Given the description of an element on the screen output the (x, y) to click on. 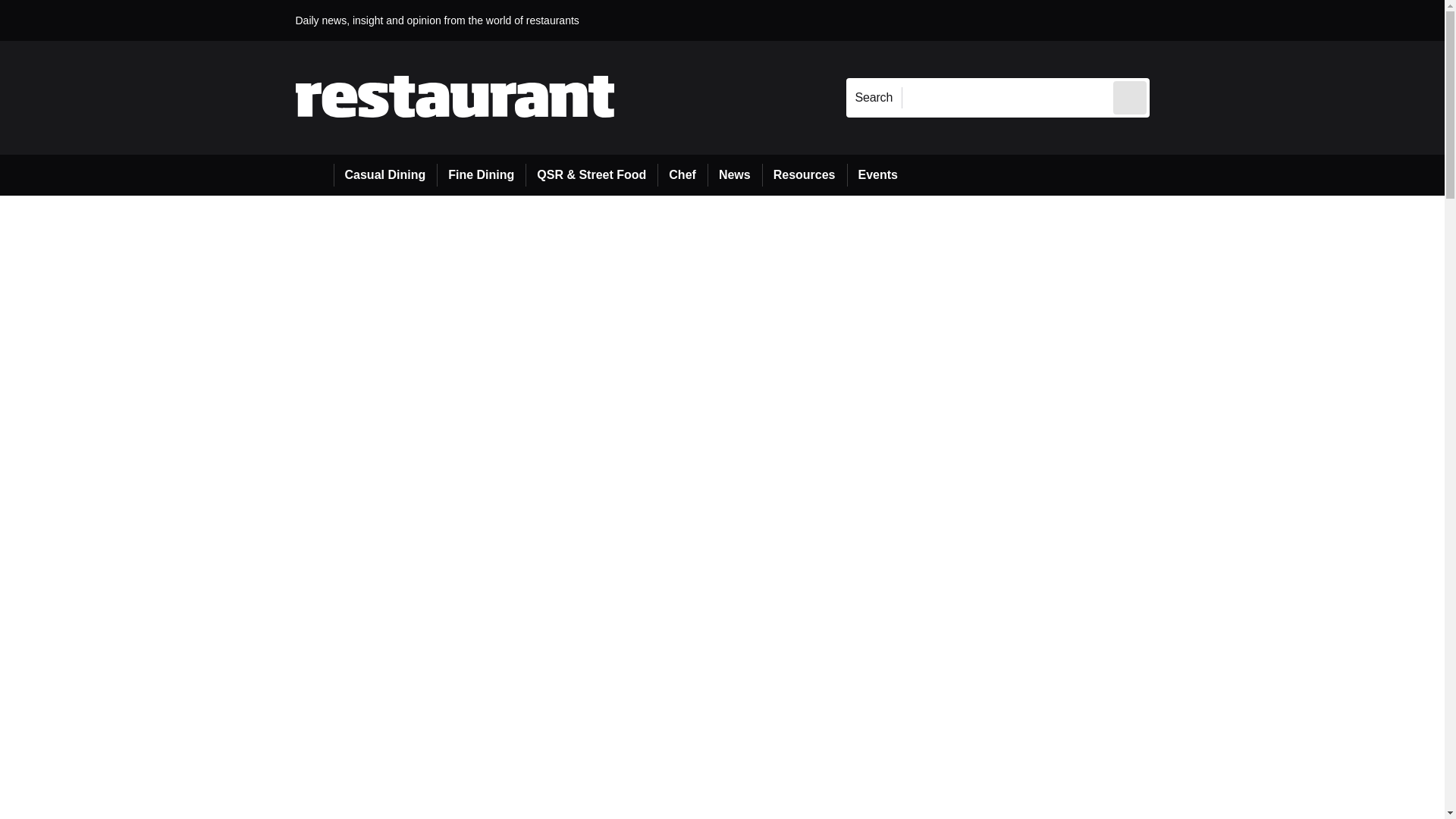
Home (314, 174)
My account (1256, 20)
Sign in (1171, 20)
Home (313, 174)
Sign out (1174, 20)
REGISTER (1250, 20)
Casual Dining (385, 174)
Fine Dining (480, 174)
Resources (804, 174)
News (734, 174)
Chef (682, 174)
Send (1129, 97)
Send (1129, 97)
